Given the description of an element on the screen output the (x, y) to click on. 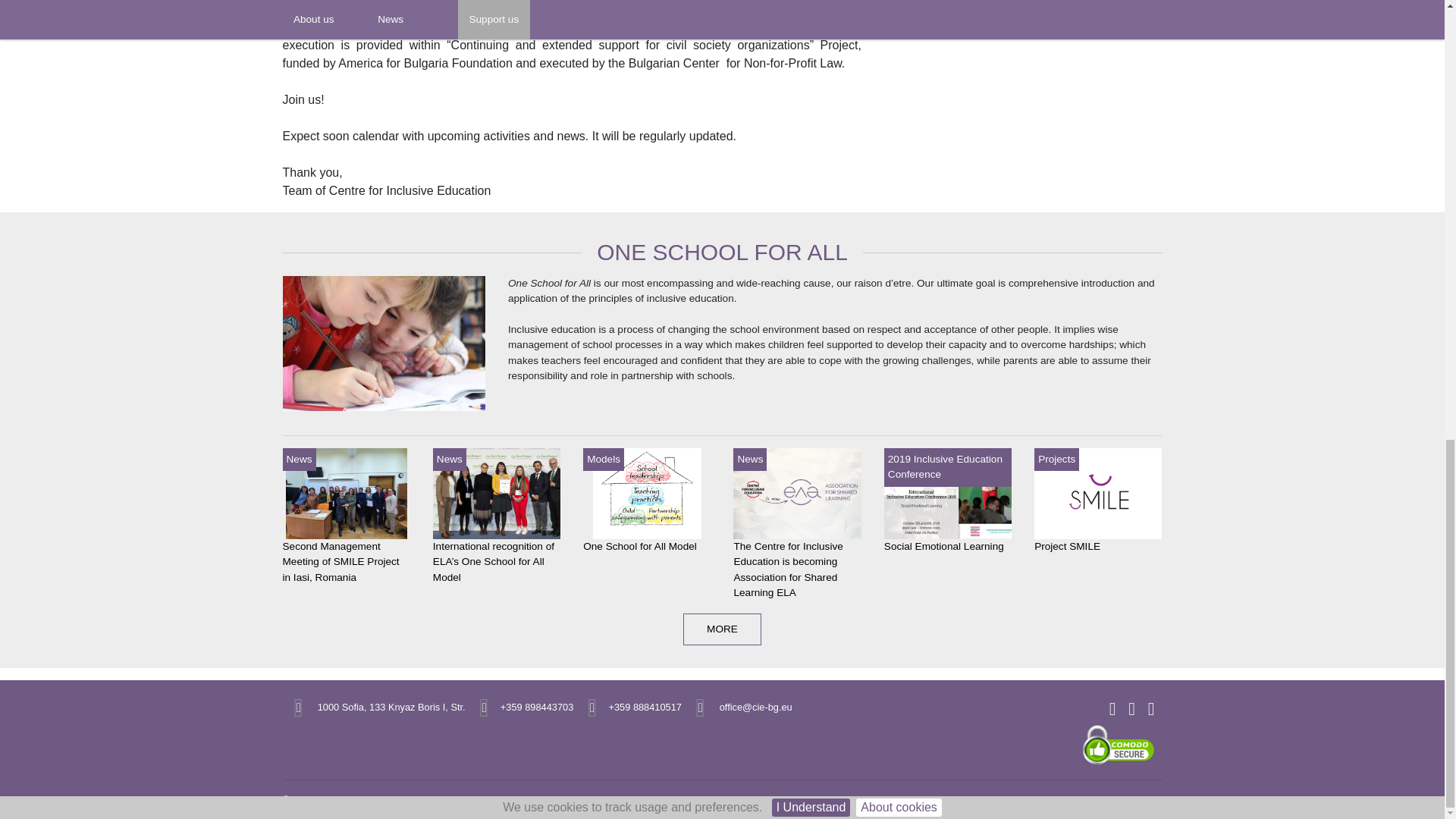
One School for All (383, 348)
Second Management Meeting of SMILE Project in Iasi, Romania (345, 492)
Second Management Meeting of SMILE Project in Iasi, Romania (340, 561)
Second Management Meeting of SMILE Project in Iasi, Romania (340, 561)
One School for All Model (640, 546)
